Given the description of an element on the screen output the (x, y) to click on. 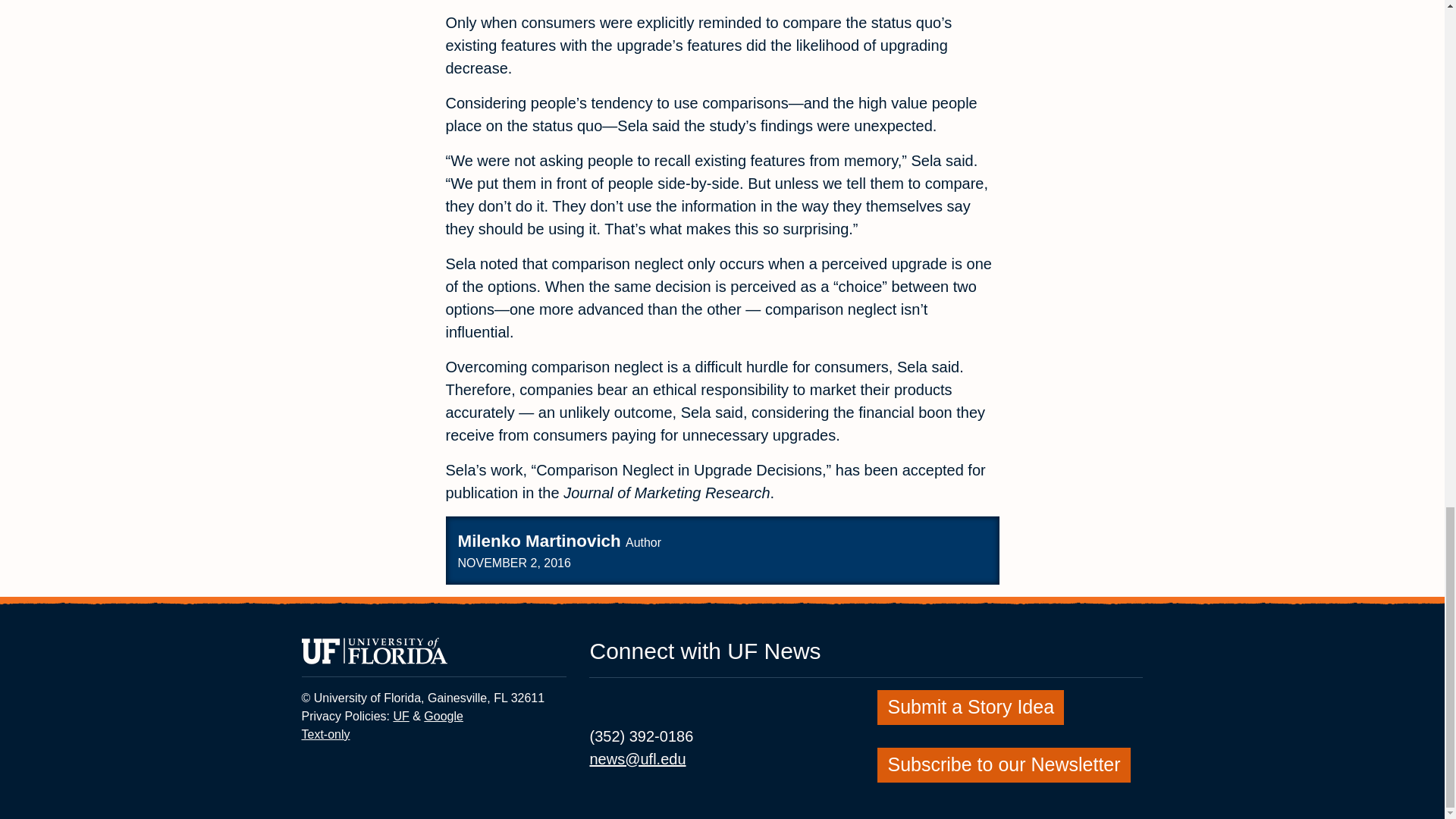
Submit a Story Idea (970, 705)
Subscribe to our Newsletter (443, 716)
Text-only (401, 716)
